Given the description of an element on the screen output the (x, y) to click on. 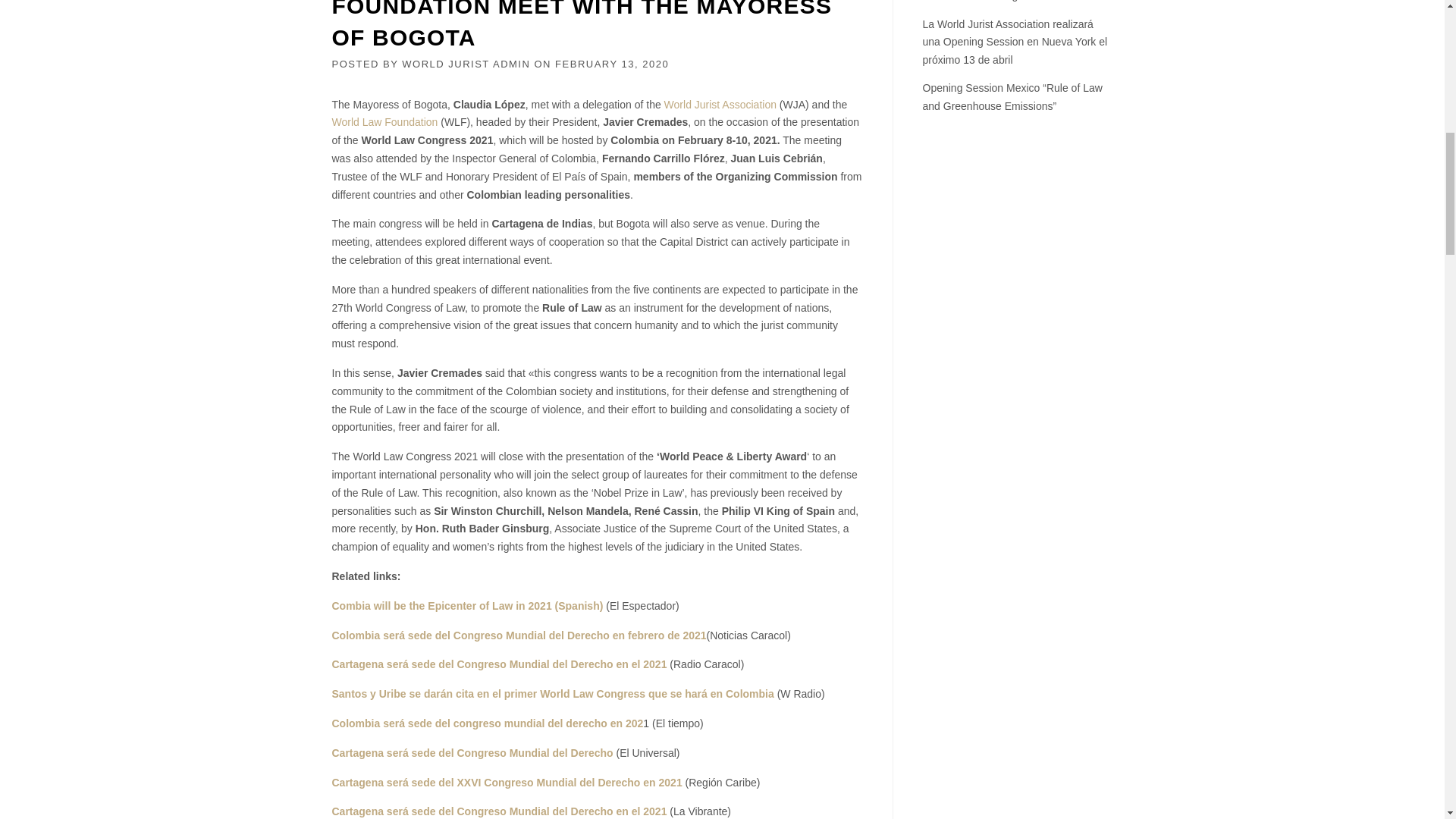
World Law Foundation (384, 121)
FEBRUARY 13, 2020 (611, 63)
WORLD JURIST ADMIN (465, 63)
World Jurist Association (719, 104)
